Given the description of an element on the screen output the (x, y) to click on. 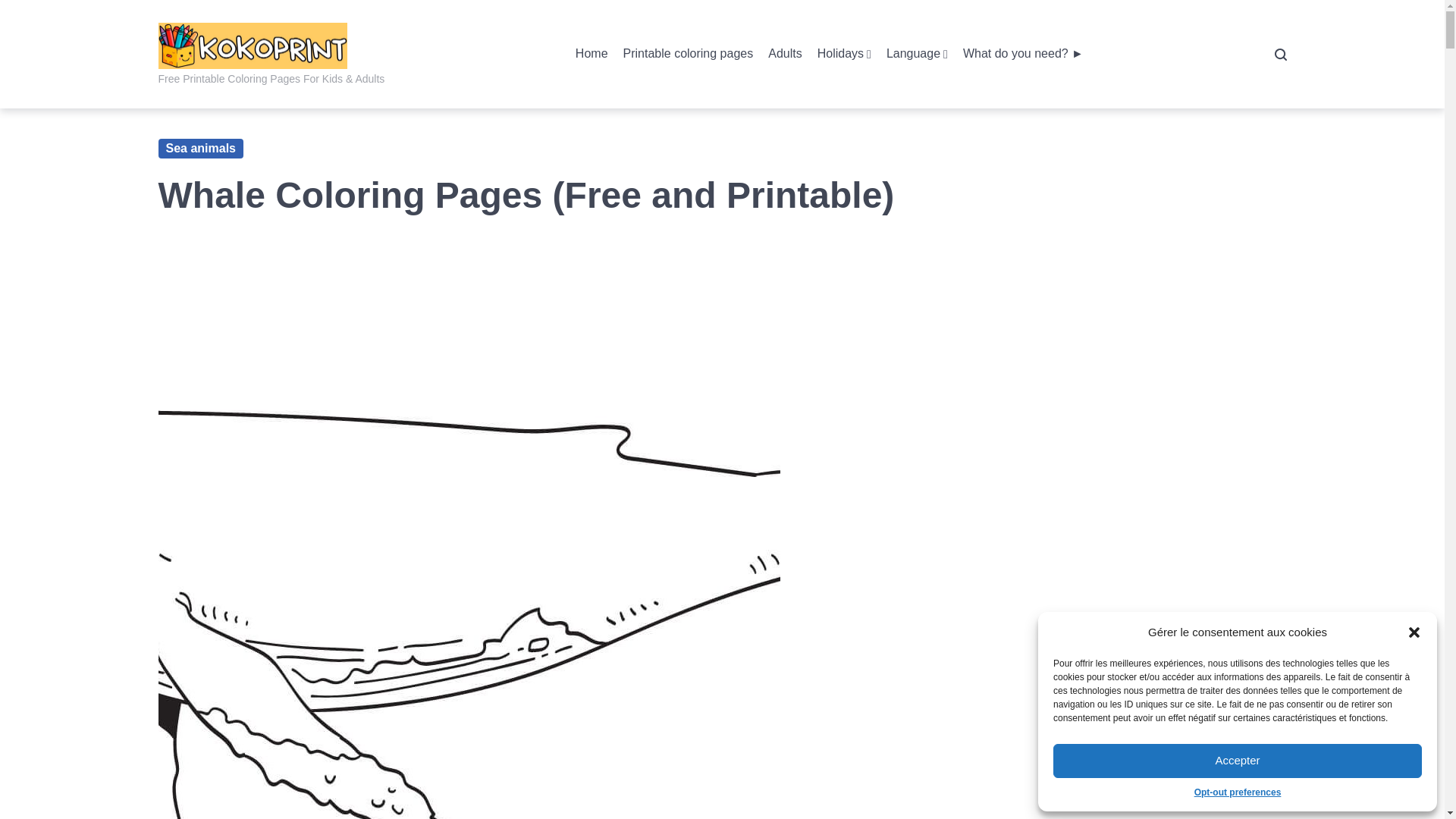
Adults (785, 54)
Language (916, 54)
Printable coloring pages (688, 54)
Holidays (843, 54)
Home (591, 54)
Opt-out preferences (1237, 792)
Accepter (1237, 760)
